Given the description of an element on the screen output the (x, y) to click on. 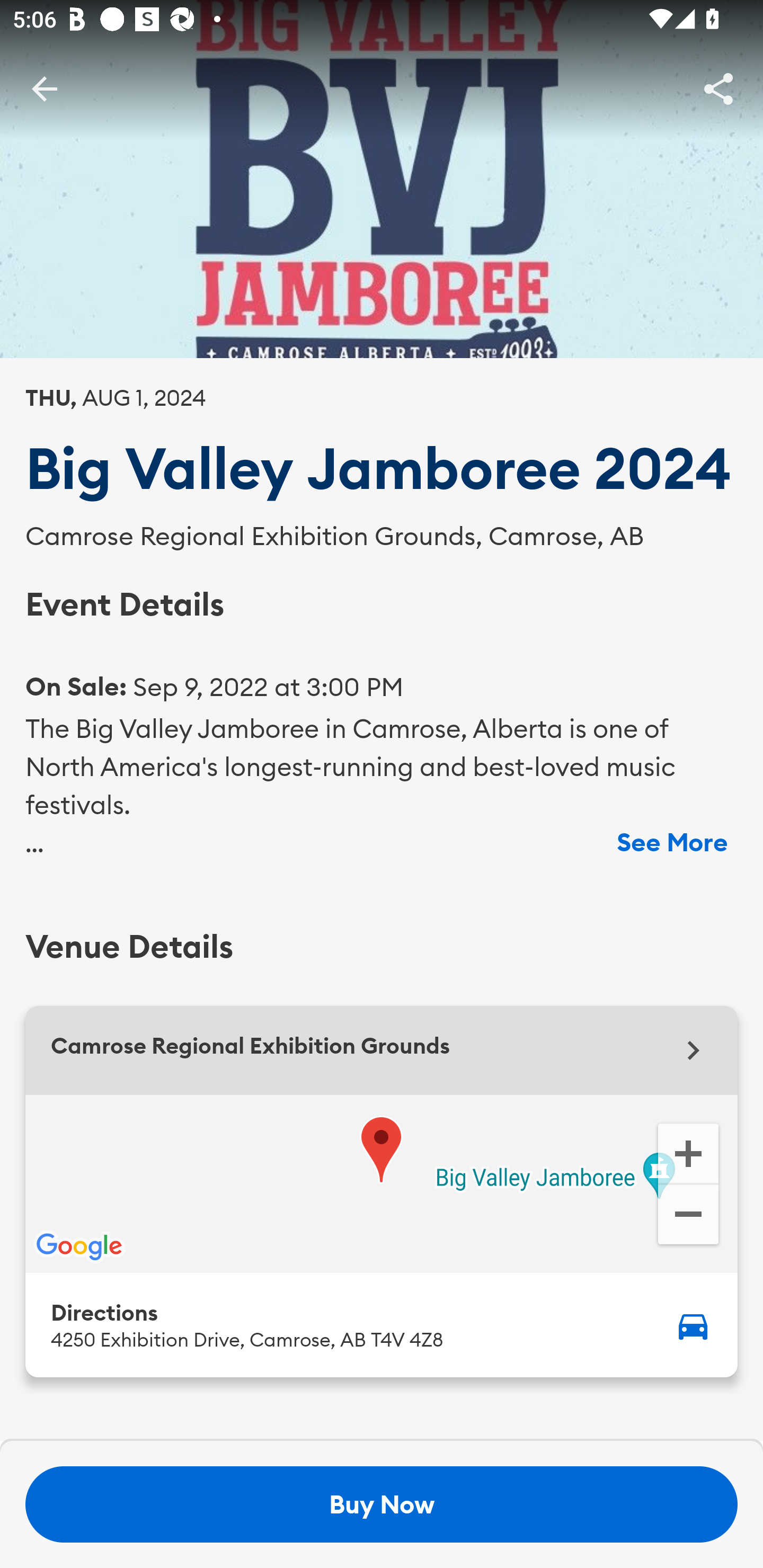
BackButton (44, 88)
Share (718, 88)
See More (671, 842)
Camrose Regional Exhibition Grounds (381, 1050)
Zoom in (687, 1152)
Zoom out (687, 1216)
Buy Now (381, 1504)
